Given the description of an element on the screen output the (x, y) to click on. 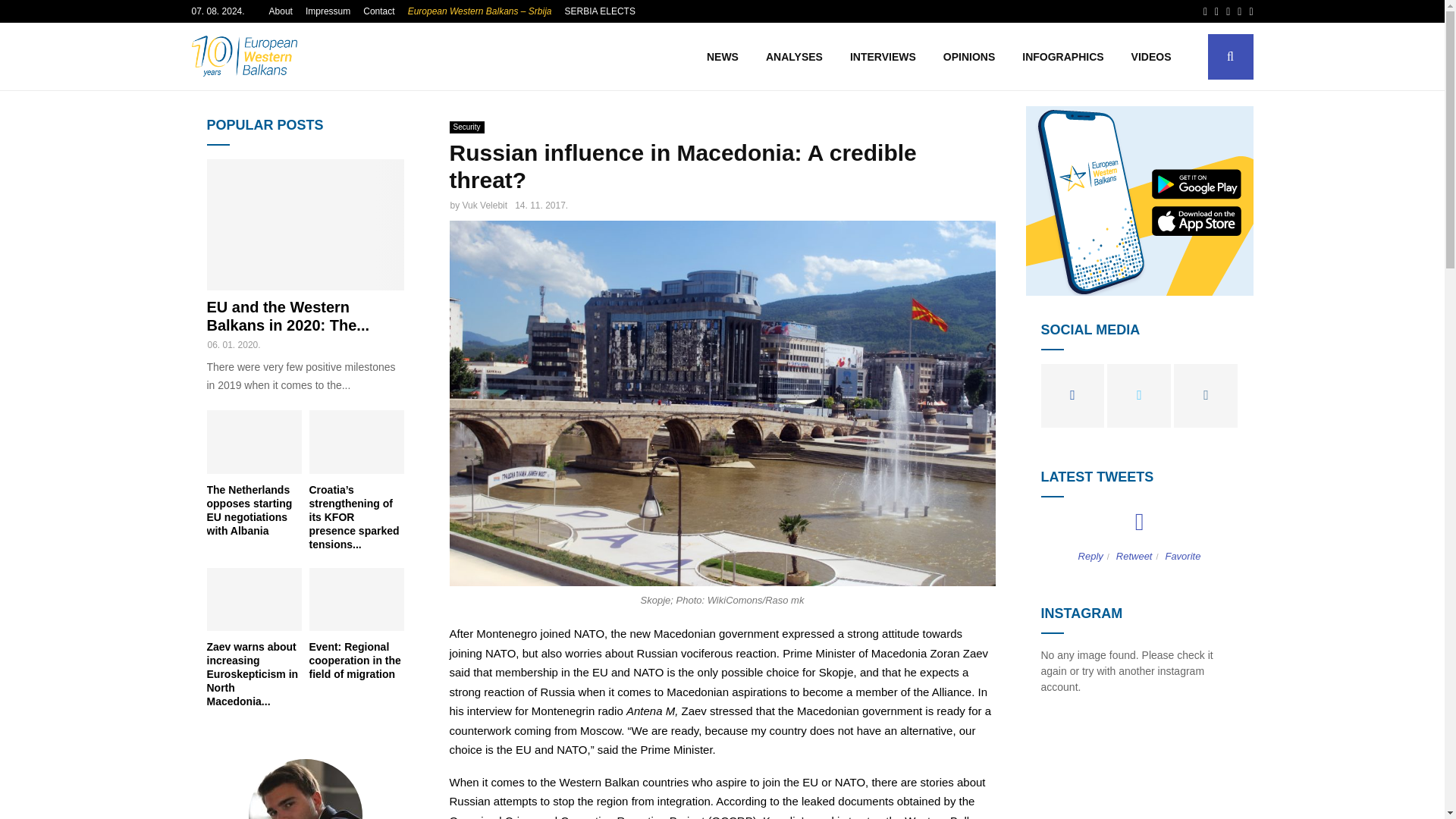
INTERVIEWS (882, 56)
VIDEOS (1151, 56)
OPINIONS (969, 56)
About (280, 11)
NEWS (722, 56)
Contact (378, 11)
Security (465, 127)
SERBIA ELECTS (599, 11)
Vuk Velebit (485, 204)
Impressum (327, 11)
ANALYSES (793, 56)
INFOGRAPHICS (1062, 56)
